Given the description of an element on the screen output the (x, y) to click on. 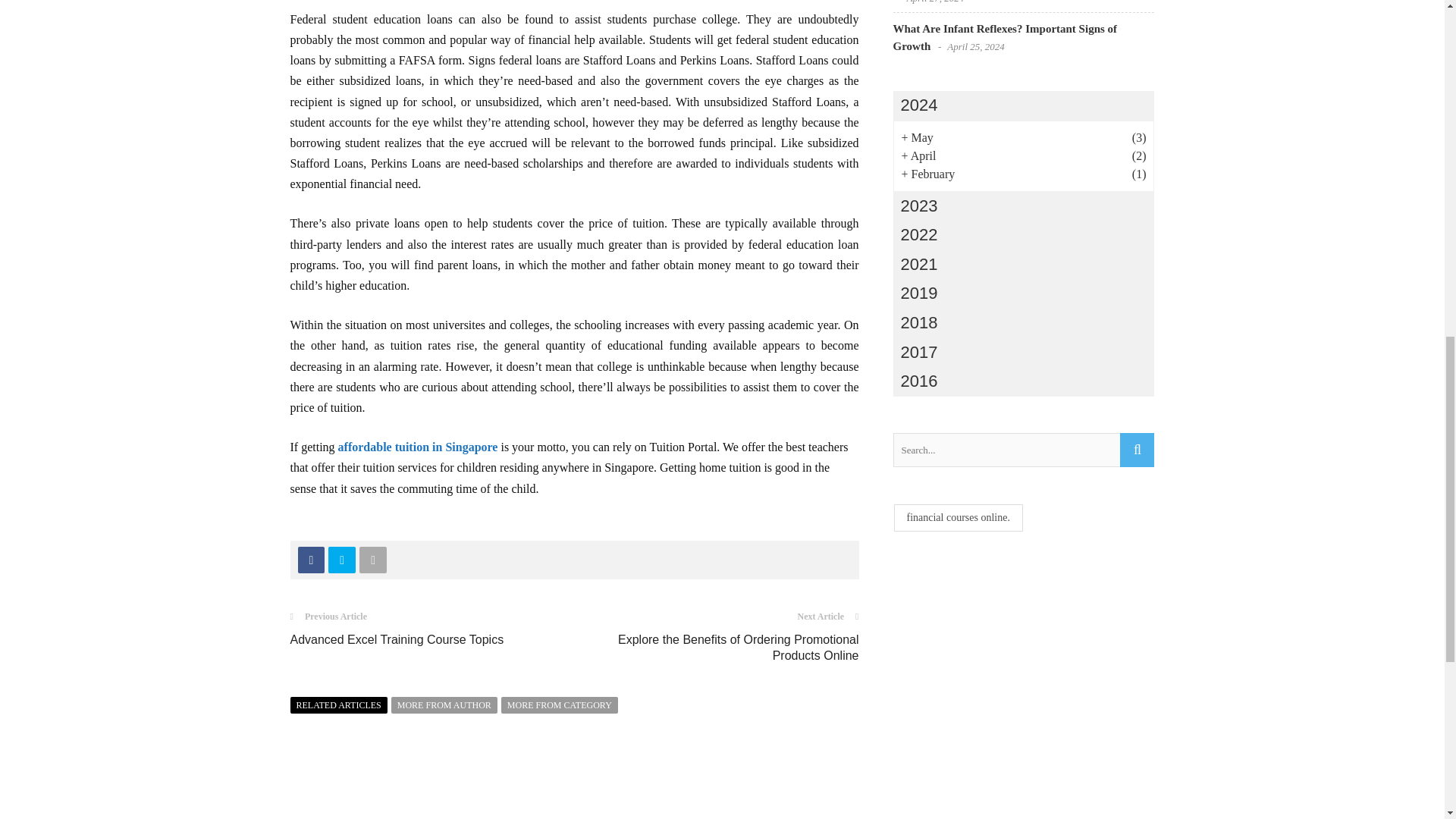
Twitter (341, 560)
affordable tuition in Singapore (417, 446)
Facebook (311, 560)
